Given the description of an element on the screen output the (x, y) to click on. 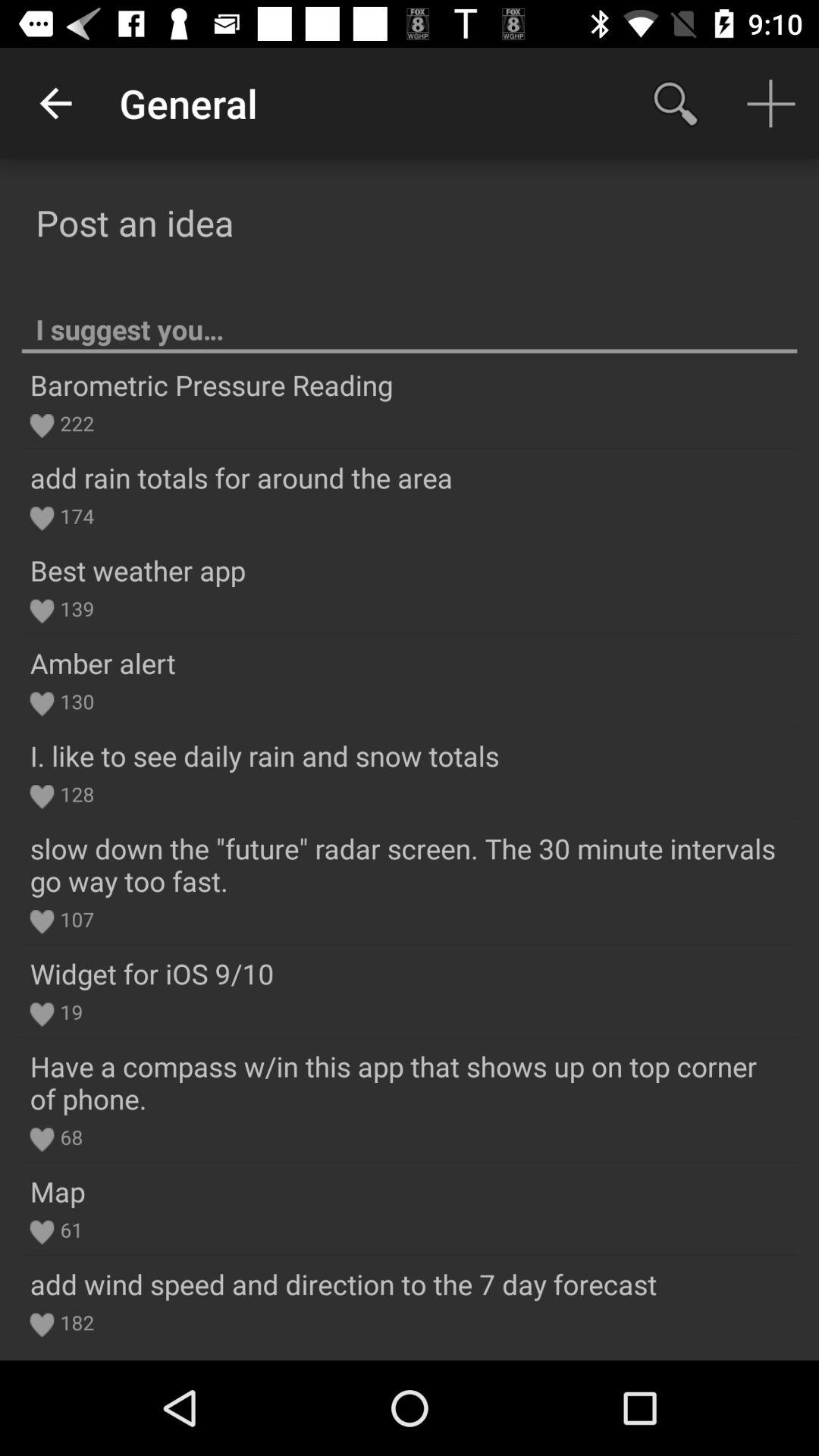
click on add option on the top right (771, 103)
symbol below like (42, 796)
click on icon left to 130 (42, 704)
